Given the description of an element on the screen output the (x, y) to click on. 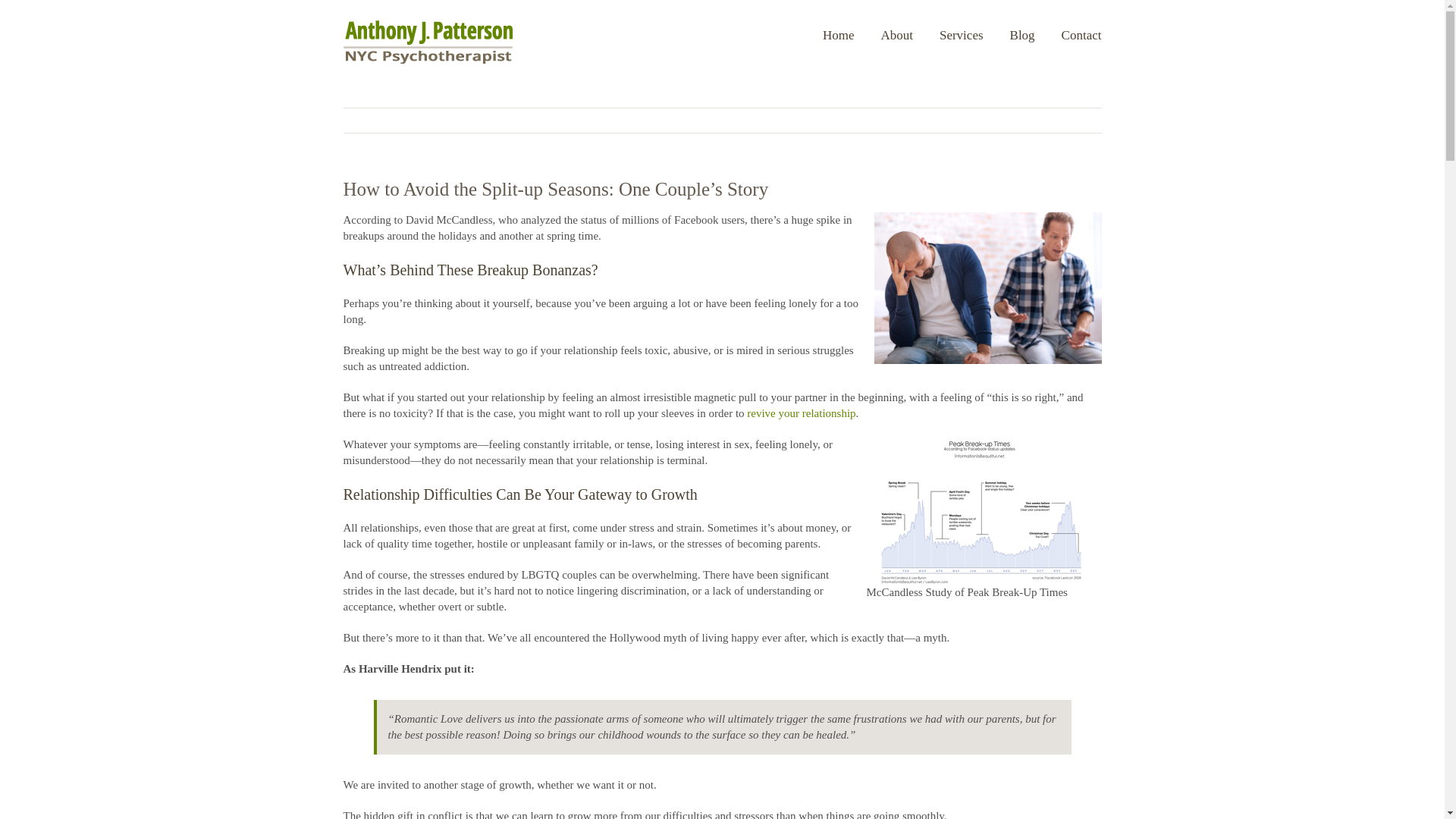
revive your relationship (801, 413)
